Given the description of an element on the screen output the (x, y) to click on. 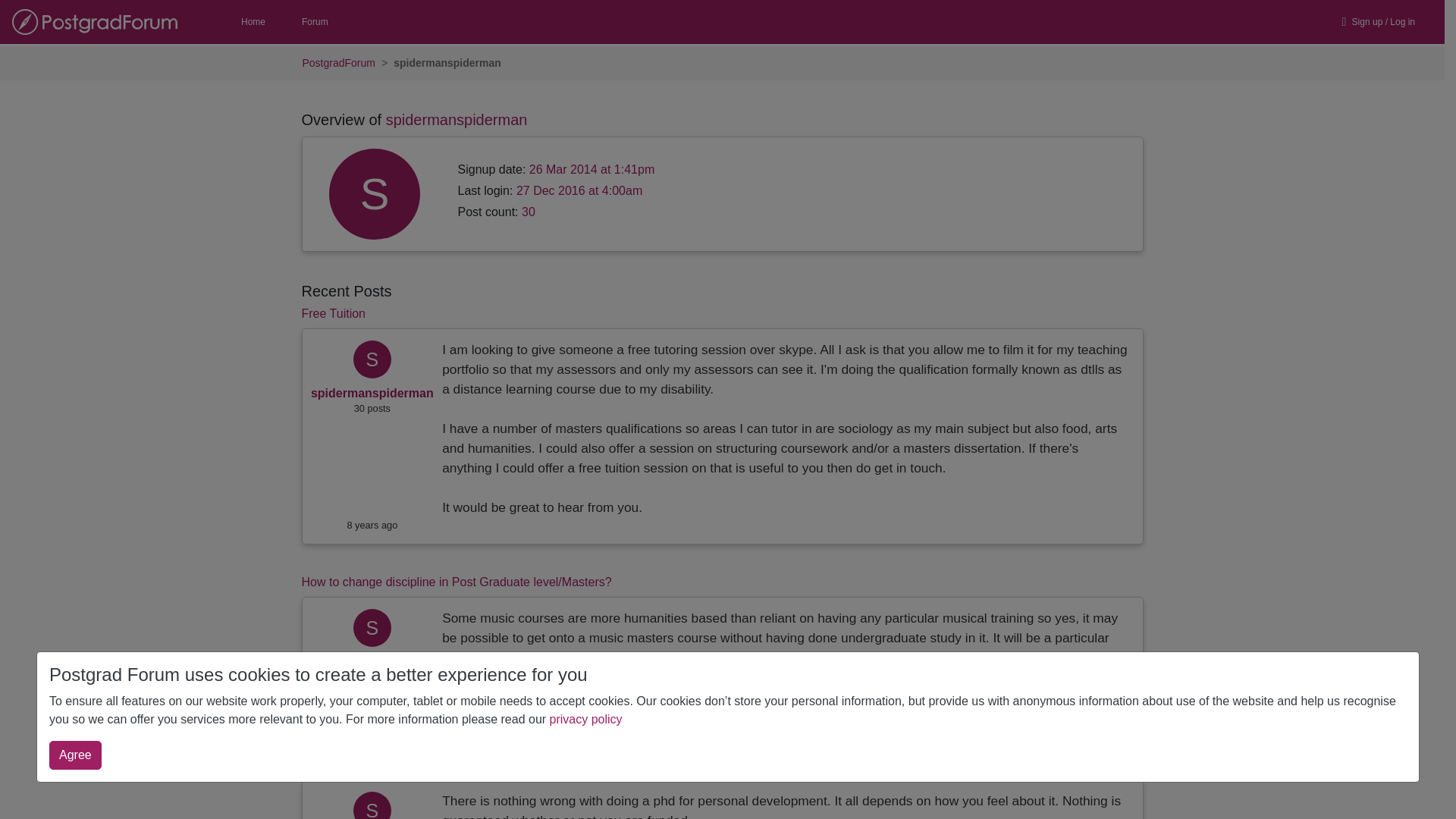
View thread: Self-Funded PhDs. Good or Bad?  (392, 764)
Home (252, 22)
S (372, 812)
spidermanspiderman (372, 812)
Self-Funded PhDs. Good or Bad? (392, 764)
Free Tuition (333, 313)
spidermanspiderman (372, 631)
S (372, 361)
spidermanspiderman (372, 361)
spidermanspiderman (372, 392)
View thread: Free Tuition (333, 313)
PostgradForum (337, 63)
Forum (314, 22)
S (372, 631)
27-Dec-16, 04:09:35 (372, 524)
